Given the description of an element on the screen output the (x, y) to click on. 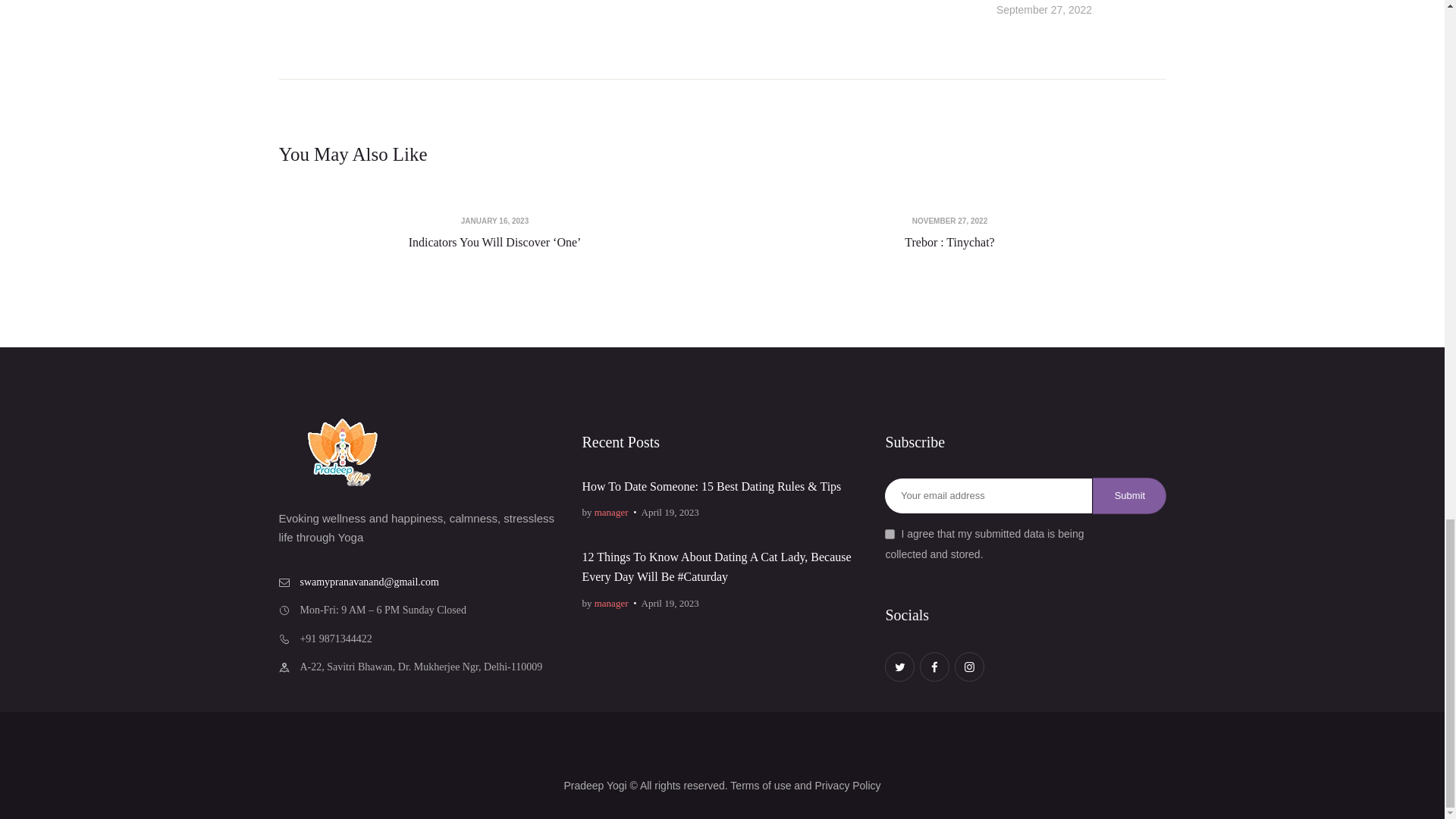
1 (890, 533)
Submit (1129, 495)
